Given the description of an element on the screen output the (x, y) to click on. 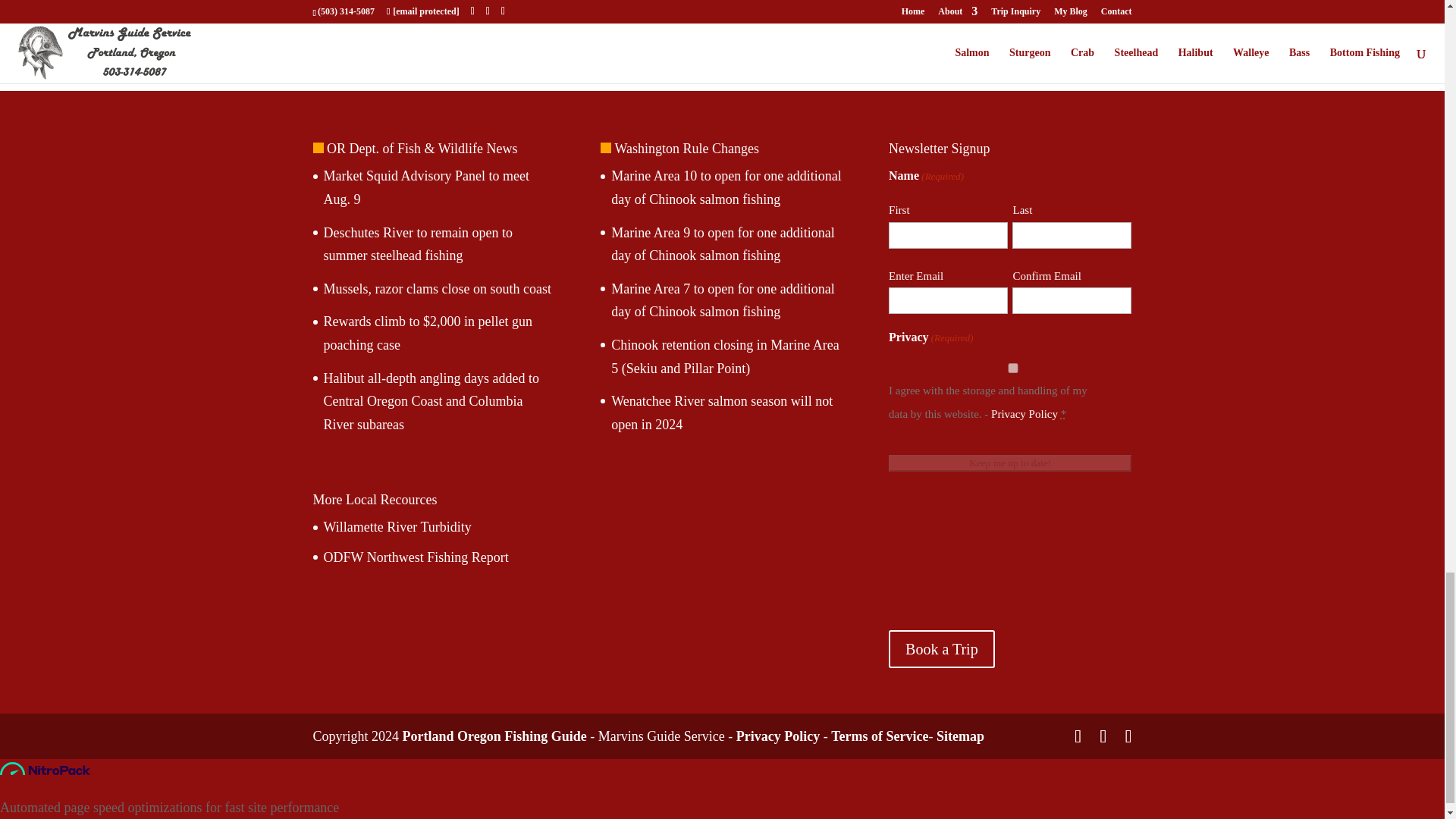
Keep me up to date! (1009, 463)
